Given the description of an element on the screen output the (x, y) to click on. 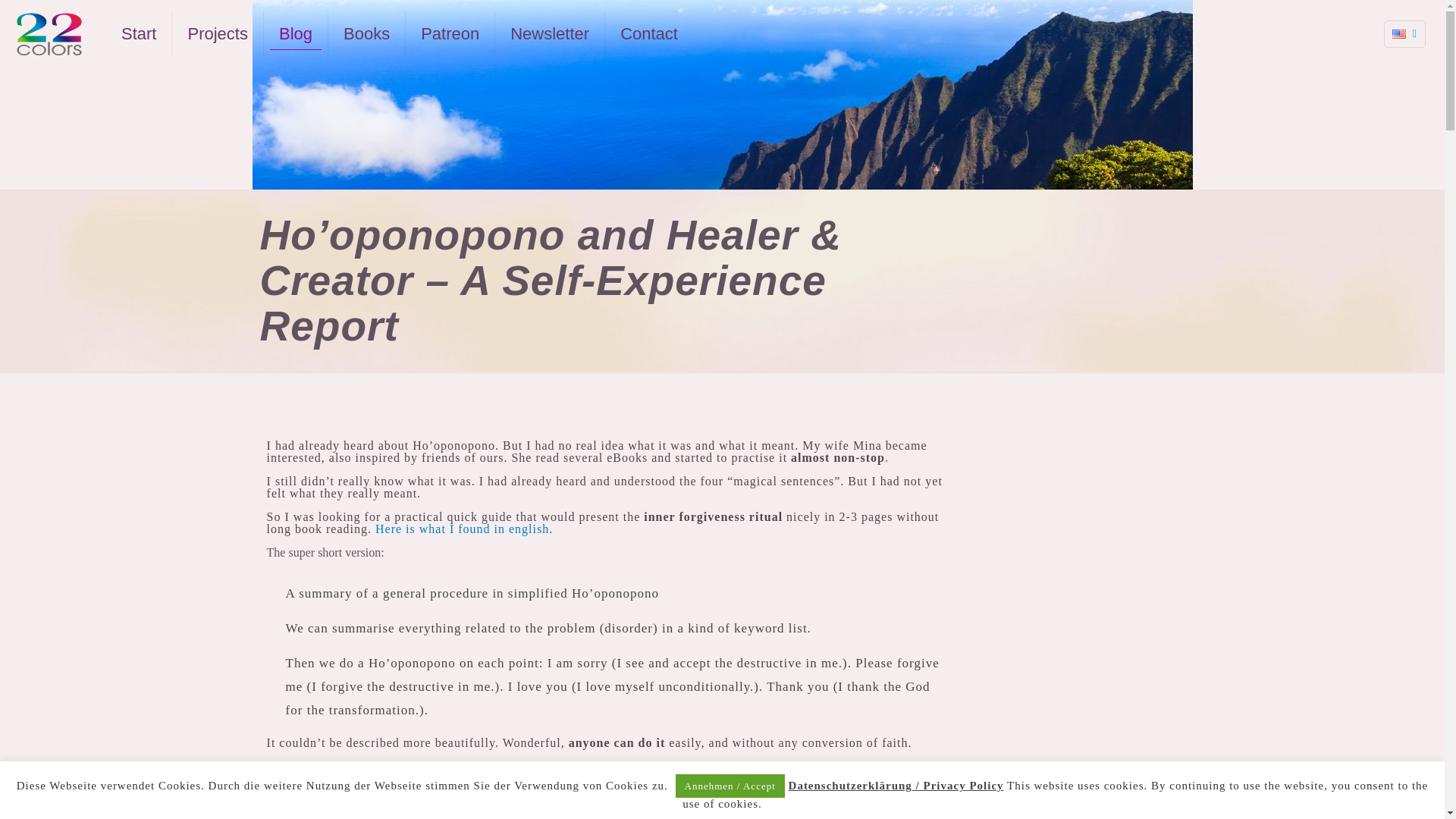
Blog (296, 33)
Start (138, 33)
22colors (48, 33)
Patreon (450, 33)
Here is what I found in english (461, 528)
Newsletter (550, 33)
Contact (649, 33)
Projects (217, 33)
Books (367, 33)
